Given the description of an element on the screen output the (x, y) to click on. 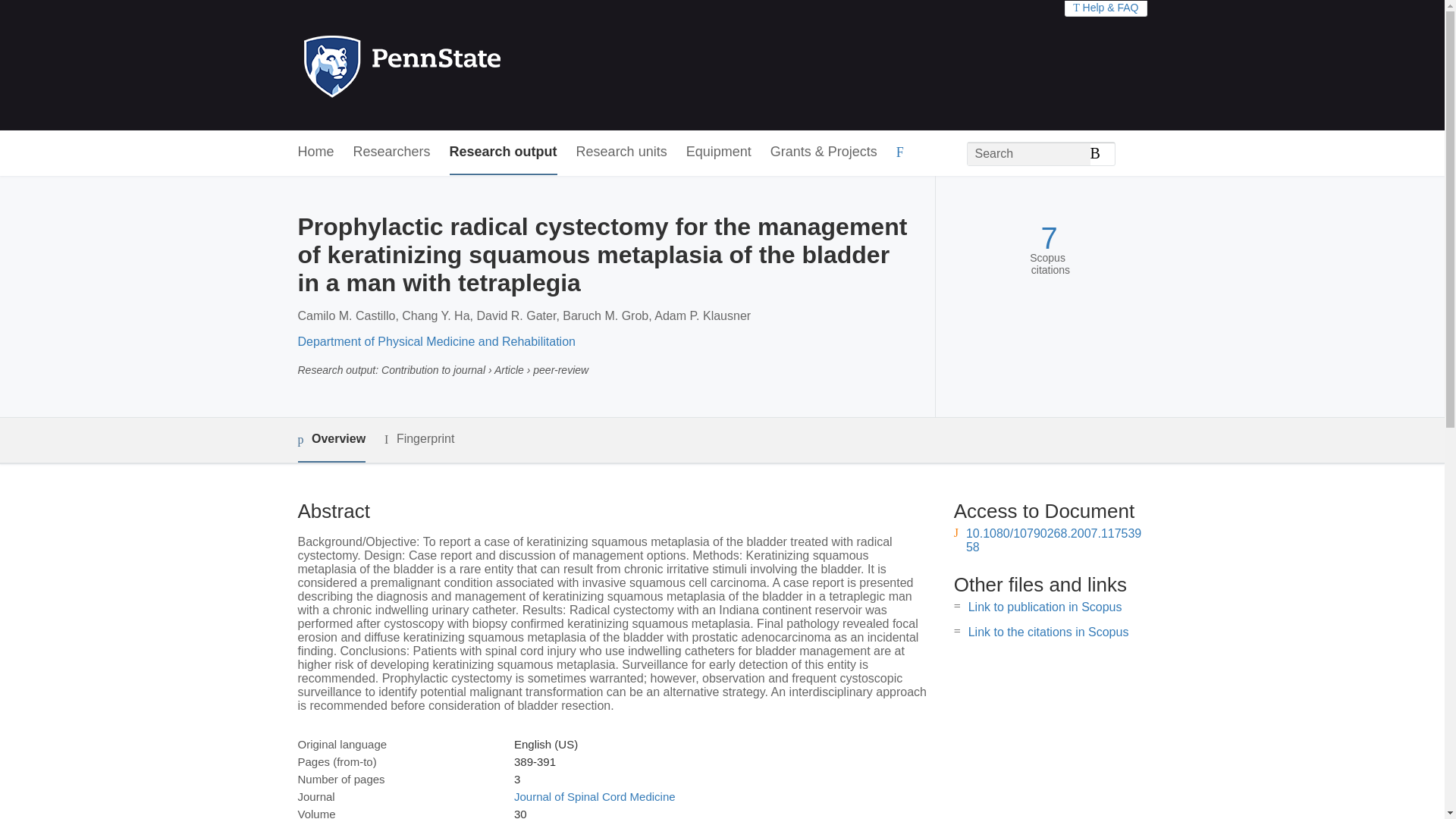
Link to publication in Scopus (1045, 606)
Research units (621, 152)
Overview (331, 439)
Link to the citations in Scopus (1048, 631)
Fingerprint (419, 439)
Equipment (718, 152)
Penn State Home (467, 65)
Department of Physical Medicine and Rehabilitation (436, 341)
Journal of Spinal Cord Medicine (594, 796)
Researchers (391, 152)
Research output (503, 152)
